Given the description of an element on the screen output the (x, y) to click on. 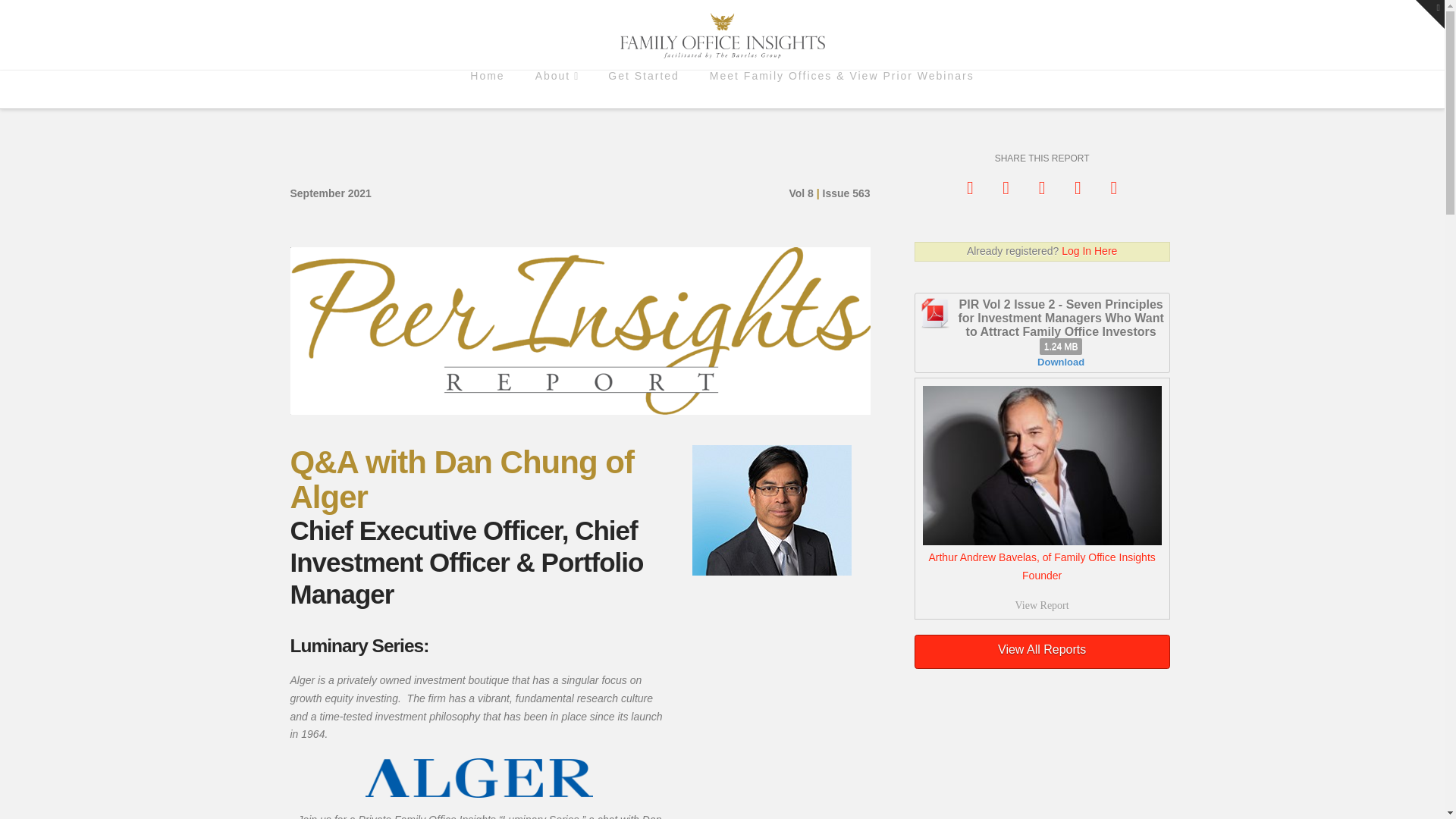
View All Reports (1042, 651)
Get Started (643, 89)
About (556, 89)
Share on LinkedIn (1042, 187)
Share via Email (1113, 187)
Log In Here (1088, 250)
Share on Reddit (1077, 187)
Download (1060, 361)
Home (486, 89)
Share on Twitter (1042, 498)
Share on Facebook (1005, 187)
